Given the description of an element on the screen output the (x, y) to click on. 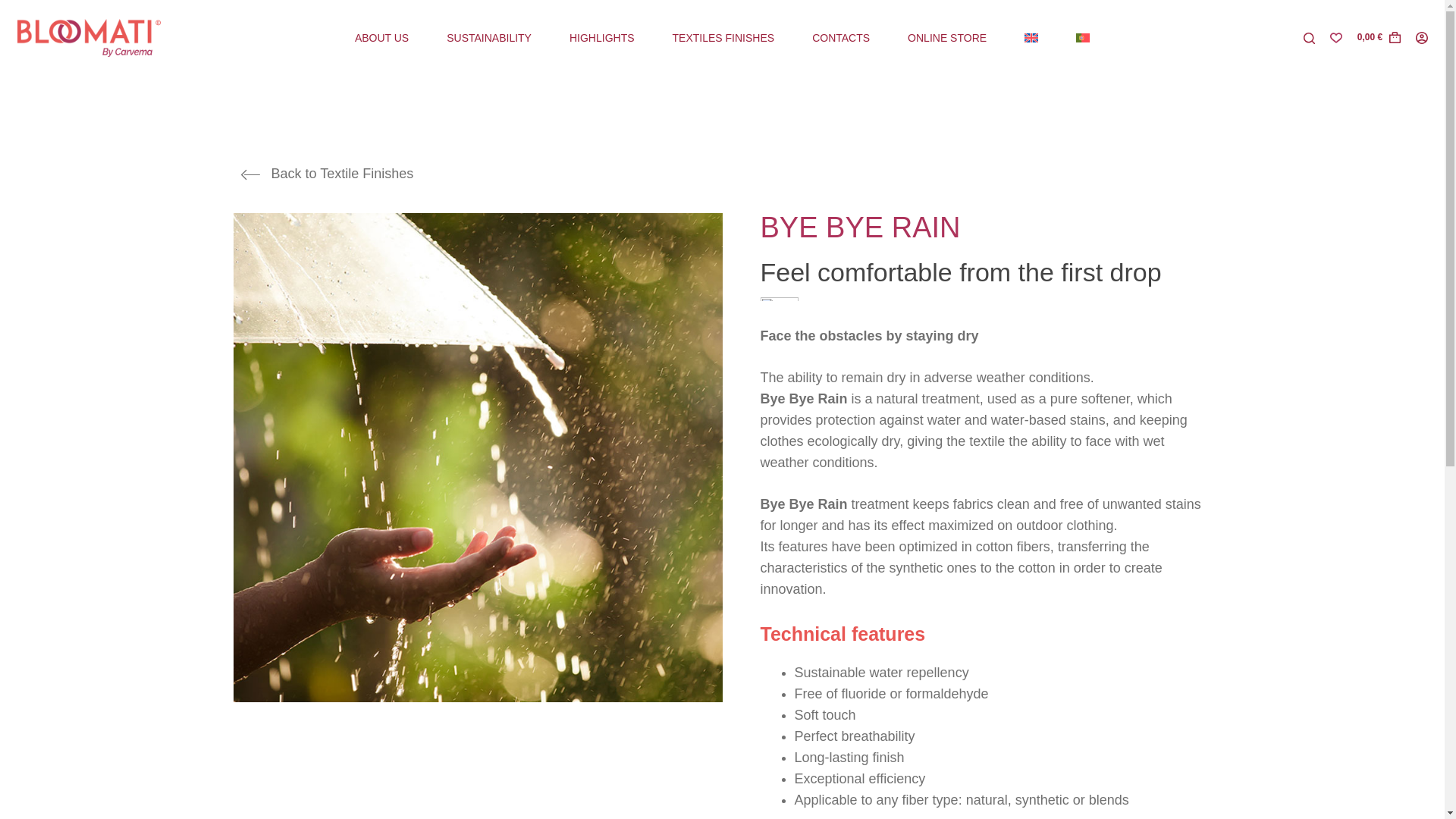
HIGHLIGHTS (601, 37)
Skip to content (15, 7)
ABOUT US (382, 37)
CONTACTS (840, 37)
TEXTILES FINISHES (723, 37)
ONLINE STORE (947, 37)
SUSTAINABILITY (489, 37)
